Given the description of an element on the screen output the (x, y) to click on. 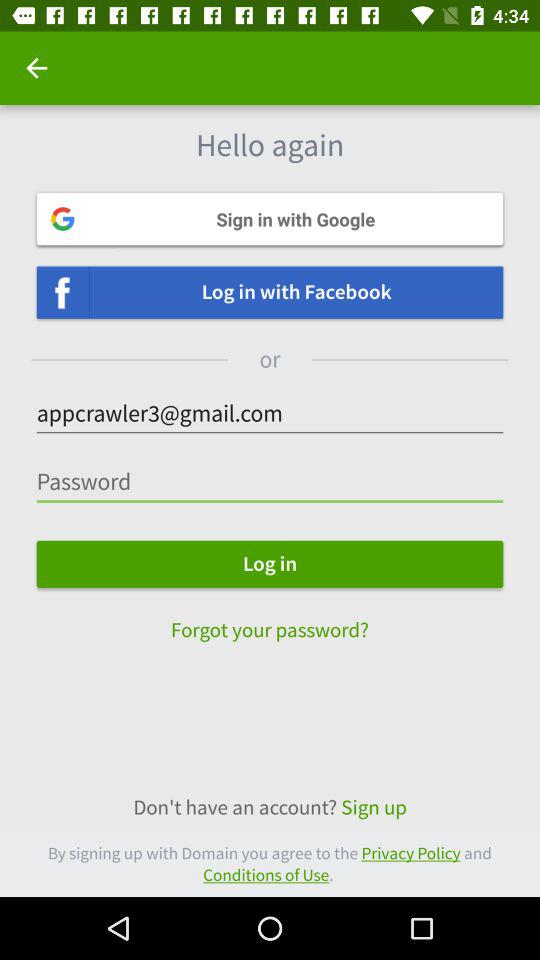
swipe to appcrawler3@gmail.com item (269, 414)
